Given the description of an element on the screen output the (x, y) to click on. 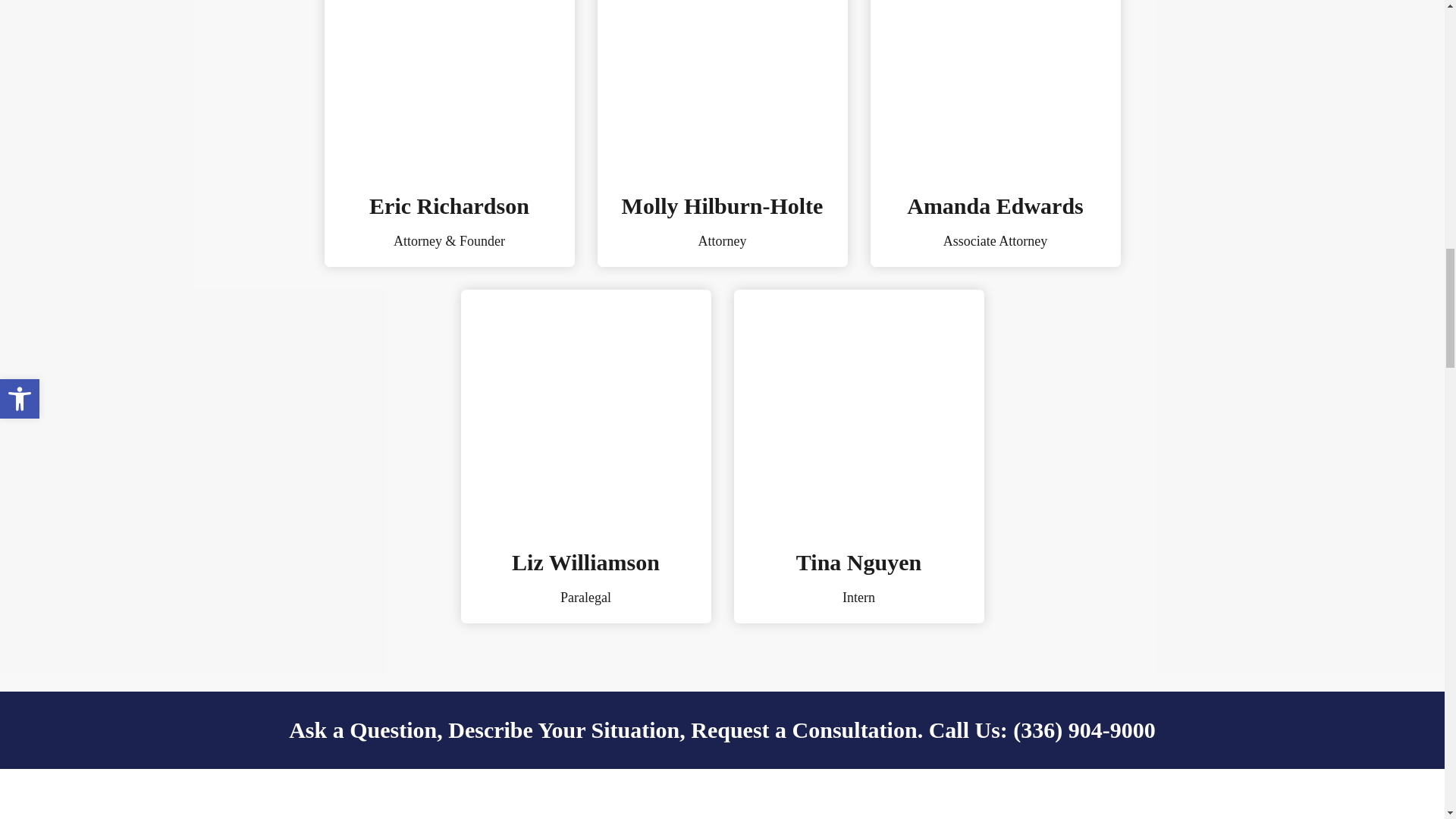
Liz Williamson (585, 561)
Molly Hilburn-Holte (722, 205)
Molly Hilburn-Holte (721, 85)
Amanda Edwards (995, 205)
Amanda Edwards (995, 85)
Tina Nguyen (858, 408)
Liz Williamson (586, 408)
Tina Nguyen (858, 561)
Eric Richardson (449, 85)
Eric Richardson (449, 205)
